Given the description of an element on the screen output the (x, y) to click on. 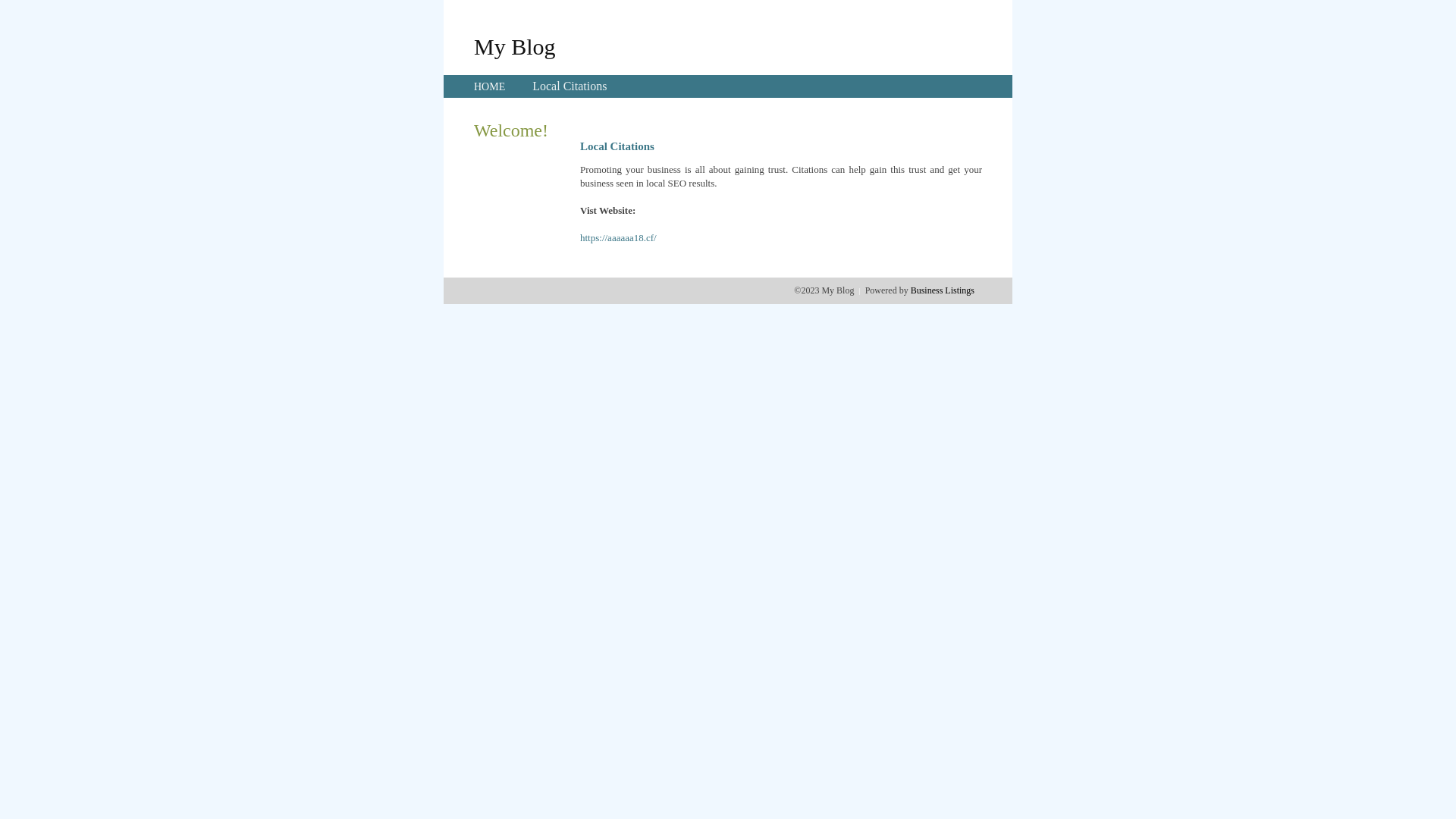
https://aaaaaa18.cf/ Element type: text (618, 237)
Local Citations Element type: text (569, 85)
My Blog Element type: text (514, 46)
HOME Element type: text (489, 86)
Business Listings Element type: text (942, 290)
